Given the description of an element on the screen output the (x, y) to click on. 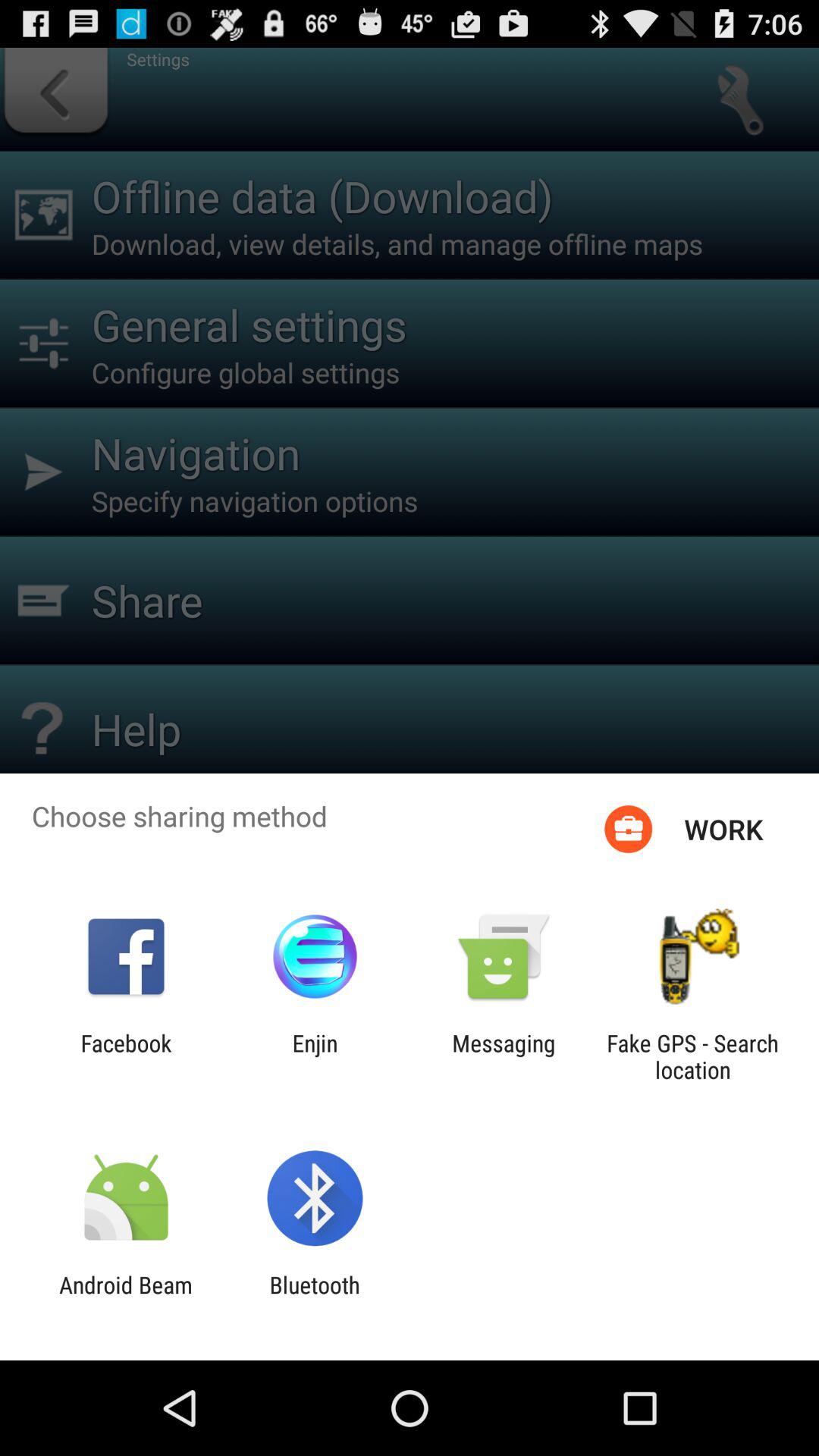
turn off the item next to messaging icon (692, 1056)
